Given the description of an element on the screen output the (x, y) to click on. 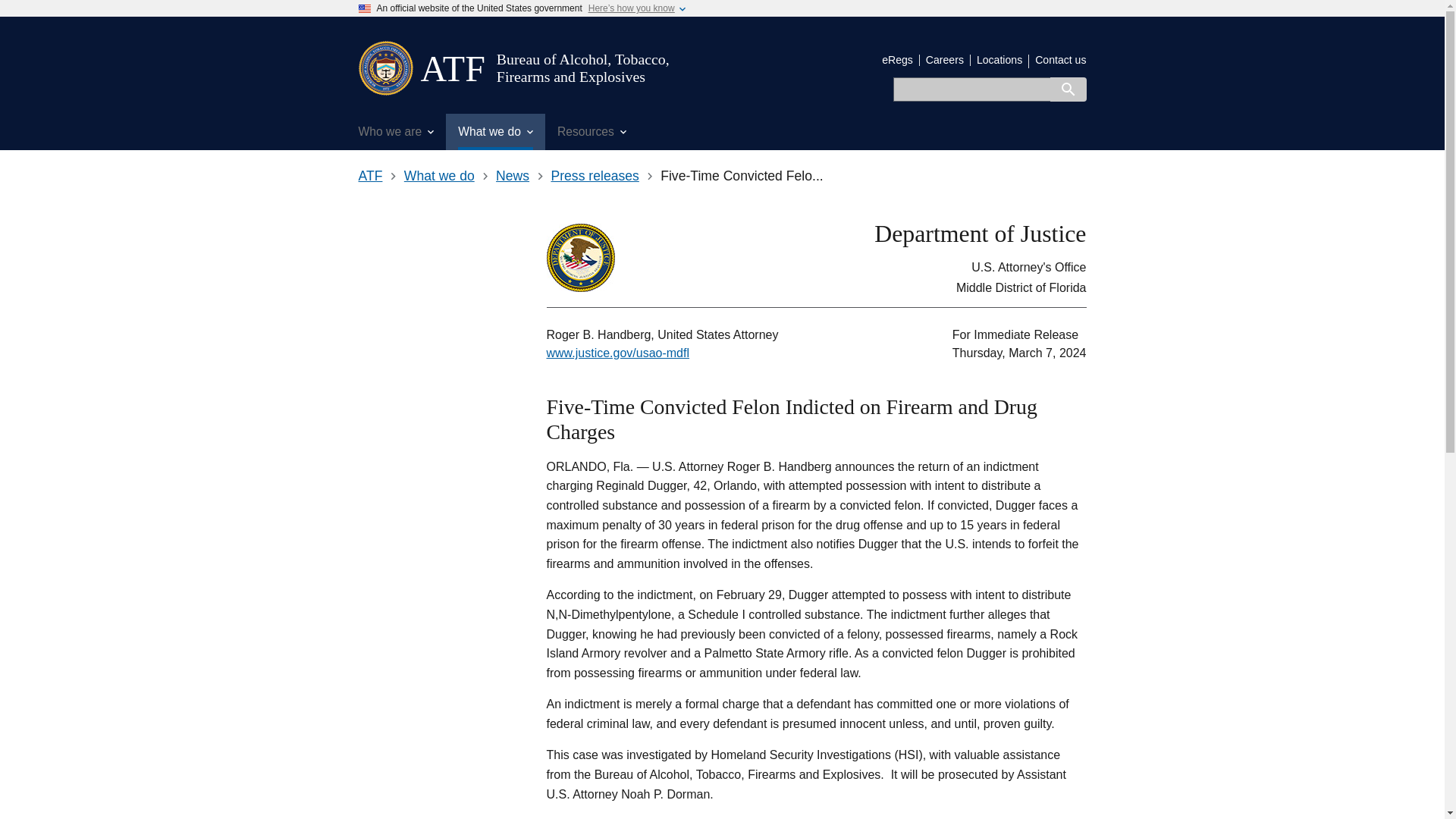
ATF (452, 68)
ATF (369, 175)
Resources (591, 131)
Search (1067, 88)
What we do (439, 175)
News (512, 175)
What we do (494, 131)
Careers (944, 59)
Who we are (395, 131)
Locations (999, 59)
Contact us (1060, 59)
ATF (452, 68)
eRegs (897, 59)
Press releases (594, 175)
